Given the description of an element on the screen output the (x, y) to click on. 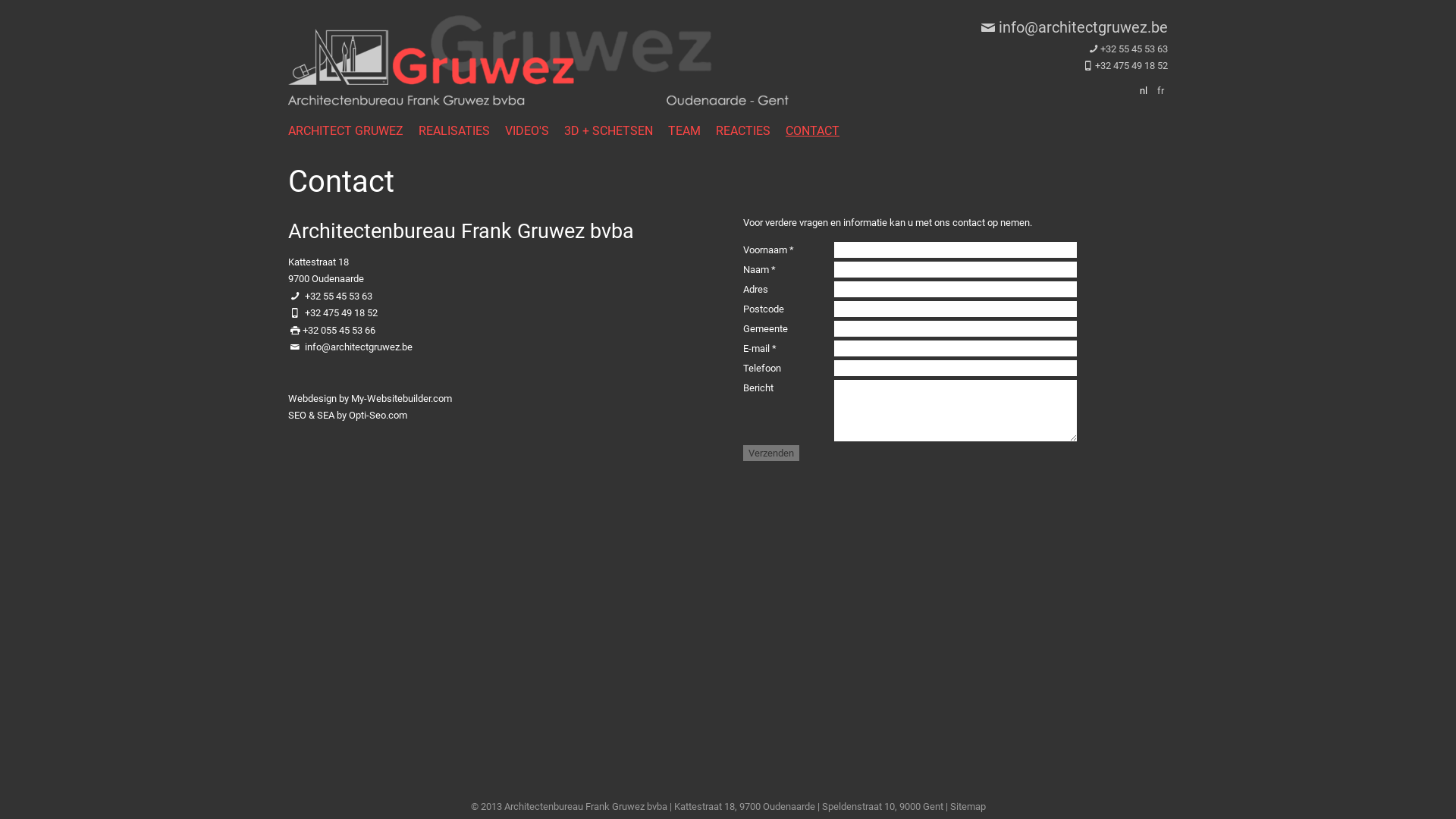
fr Element type: text (1160, 90)
Sitemap Element type: text (967, 806)
REACTIES Element type: text (750, 130)
info@architectgruwez.be Element type: text (358, 346)
TEAM Element type: text (691, 130)
VIDEO'S Element type: text (534, 130)
REALISATIES Element type: text (461, 130)
3D + SCHETSEN Element type: text (616, 130)
CONTACT Element type: text (819, 130)
Verzenden Element type: text (771, 453)
Opti-Seo.com Element type: text (377, 414)
info@architectgruwez.be Element type: text (1072, 27)
nl Element type: text (1143, 90)
My-Websitebuilder.com Element type: text (401, 398)
ARCHITECT GRUWEZ Element type: text (353, 130)
